Given the description of an element on the screen output the (x, y) to click on. 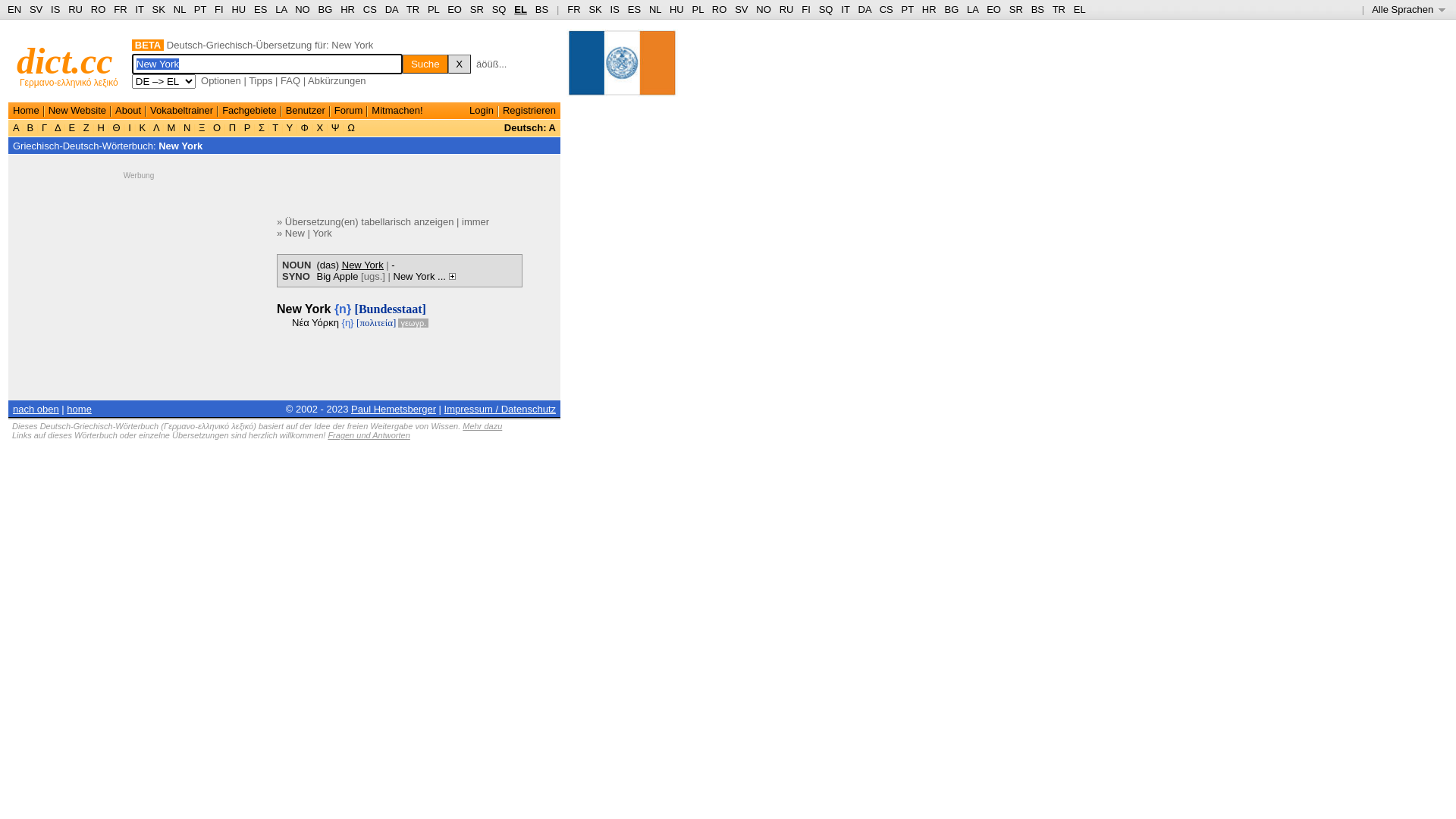
PT Element type: text (907, 9)
FAQ Element type: text (290, 80)
Fragen und Antworten Element type: text (368, 434)
Benutzer Element type: text (305, 110)
SV Element type: text (35, 9)
NO Element type: text (302, 9)
new york city flag Element type: hover (621, 68)
SQ Element type: text (499, 9)
FR Element type: text (573, 9)
RO Element type: text (719, 9)
EO Element type: text (993, 9)
PL Element type: text (697, 9)
Forum Element type: text (348, 110)
Mitmachen! Element type: text (396, 110)
HU Element type: text (676, 9)
Login Element type: text (481, 110)
BS Element type: text (1037, 9)
CS Element type: text (886, 9)
New Element type: text (294, 232)
- Element type: text (392, 264)
SK Element type: text (594, 9)
home Element type: text (78, 408)
SR Element type: text (476, 9)
Home Element type: text (25, 110)
FI Element type: text (218, 9)
X Element type: text (459, 63)
NL Element type: text (655, 9)
About Element type: text (128, 110)
RU Element type: text (75, 9)
Vokabeltrainer Element type: text (181, 110)
FI Element type: text (805, 9)
HR Element type: text (347, 9)
IT Element type: text (844, 9)
Optionen Element type: text (220, 80)
dict.cc Element type: text (64, 60)
immer Element type: text (475, 220)
LA Element type: text (280, 9)
Impressum / Datenschutz Element type: text (499, 408)
EL Element type: text (1079, 9)
HU Element type: text (238, 9)
SK Element type: text (158, 9)
New York Element type: text (413, 275)
ES Element type: text (260, 9)
PL Element type: text (433, 9)
SV Element type: text (740, 9)
RU Element type: text (786, 9)
Paul Hemetsberger Element type: text (393, 408)
Suche Element type: text (425, 63)
HR Element type: text (929, 9)
nach oben Element type: text (35, 408)
RO Element type: text (98, 9)
Fachgebiete Element type: text (249, 110)
Registrieren Element type: text (528, 110)
Deutsch: A Element type: text (529, 127)
IS Element type: text (614, 9)
LA Element type: text (972, 9)
SR Element type: text (1015, 9)
IT Element type: text (138, 9)
...  Element type: text (446, 275)
Mehr dazu Element type: text (482, 425)
ES Element type: text (633, 9)
EL Element type: text (520, 9)
IS Element type: text (54, 9)
DA Element type: text (864, 9)
BG Element type: text (951, 9)
New York Element type: text (180, 144)
SQ Element type: text (826, 9)
FR Element type: text (119, 9)
DA Element type: text (391, 9)
NL Element type: text (179, 9)
New Website Element type: text (77, 110)
BS Element type: text (541, 9)
CS Element type: text (369, 9)
Alle Sprachen  Element type: text (1408, 9)
PT Element type: text (200, 9)
BG Element type: text (325, 9)
(das) New York Element type: text (349, 264)
TR Element type: text (1058, 9)
EO Element type: text (454, 9)
TR Element type: text (412, 9)
NO Element type: text (763, 9)
Big Apple [ugs.] Element type: text (350, 275)
York Element type: text (322, 232)
Tipps Element type: text (260, 80)
EN Element type: text (14, 9)
